Given the description of an element on the screen output the (x, y) to click on. 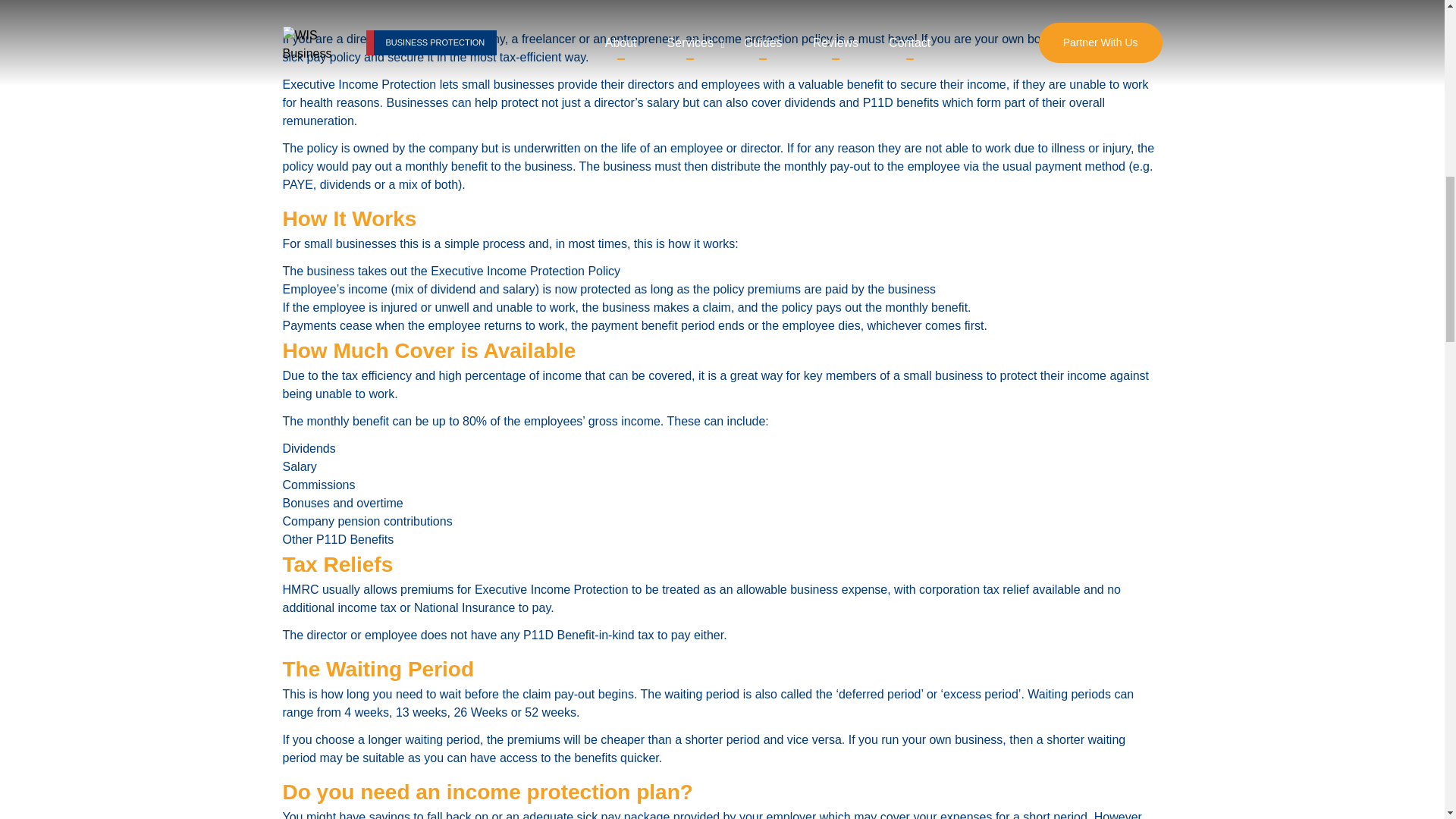
Executive Income Protection Policy (525, 270)
